Given the description of an element on the screen output the (x, y) to click on. 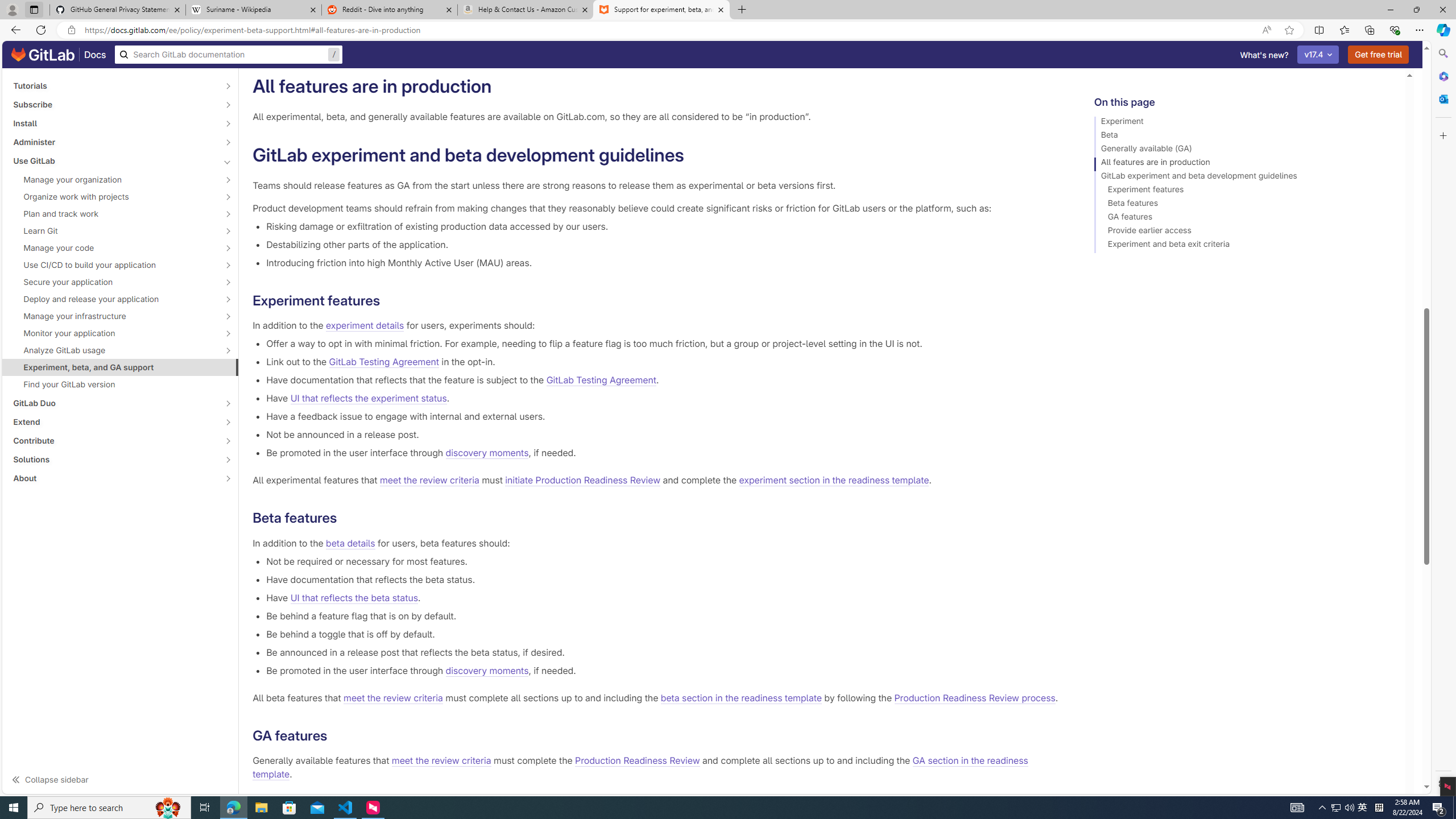
Generally available (GA) (1244, 150)
Collapse sidebar (120, 779)
UI that reflects the experiment status (367, 398)
Permalink (336, 735)
Not be announced in a release post. (662, 434)
Manage your code (113, 247)
Production Readiness Review process (974, 697)
Experiment (1244, 123)
Find your GitLab version (120, 384)
experiment details (365, 325)
Destabilizing other parts of the application. (662, 244)
